Given the description of an element on the screen output the (x, y) to click on. 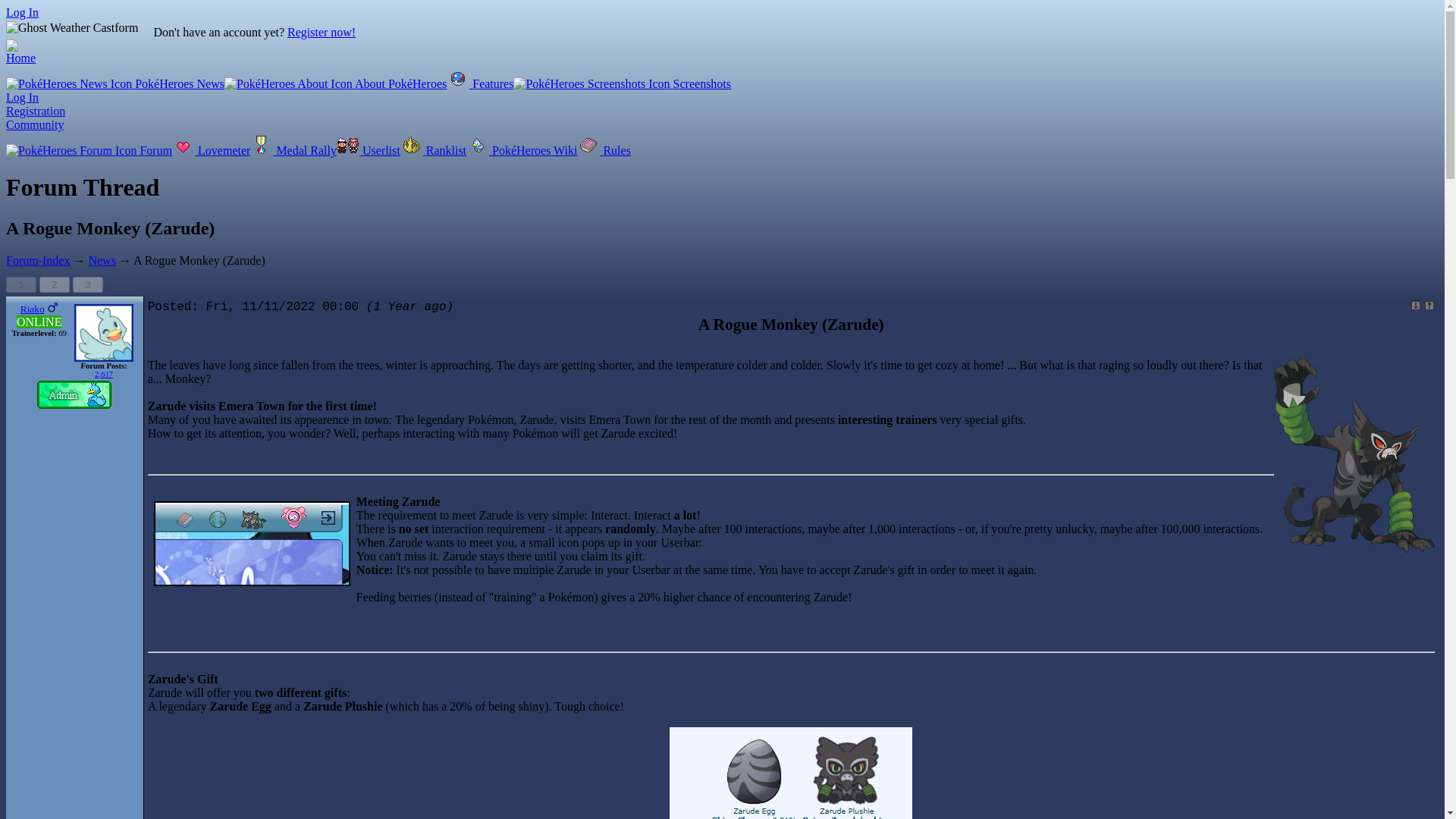
Permanent Link to this Post (1415, 305)
Riako (32, 308)
Forum (88, 150)
Features (479, 83)
2 (54, 284)
2,617 (103, 374)
Lovemeter (210, 150)
1 (20, 284)
Ranklist (432, 150)
Community (34, 124)
3 (87, 284)
2 (54, 284)
Registration (35, 110)
Screenshots (621, 83)
Forum-Index (37, 259)
